Given the description of an element on the screen output the (x, y) to click on. 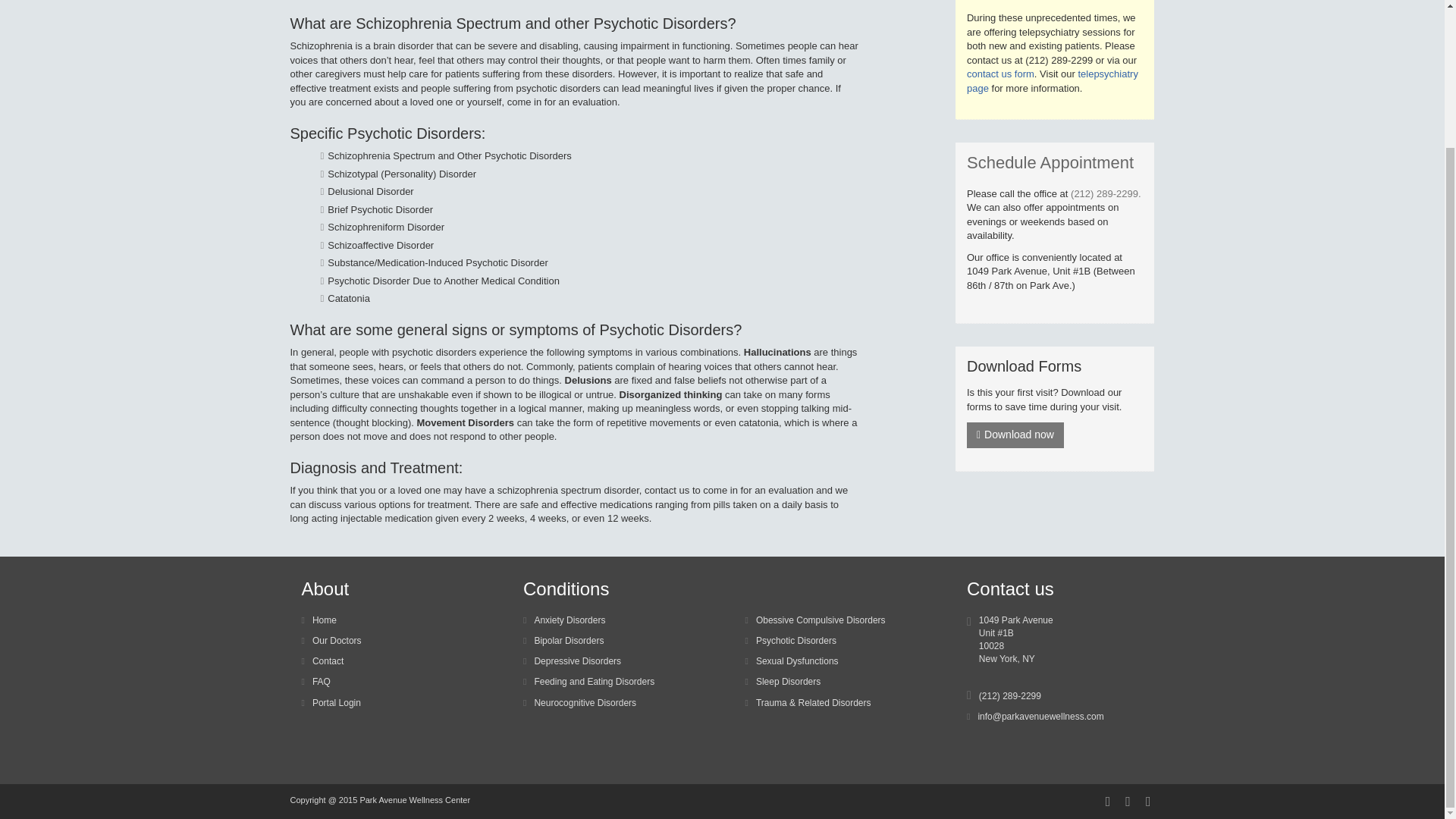
contact us form (999, 73)
telepsychiatry page (1052, 80)
Download now (1015, 434)
Home (318, 620)
